Given the description of an element on the screen output the (x, y) to click on. 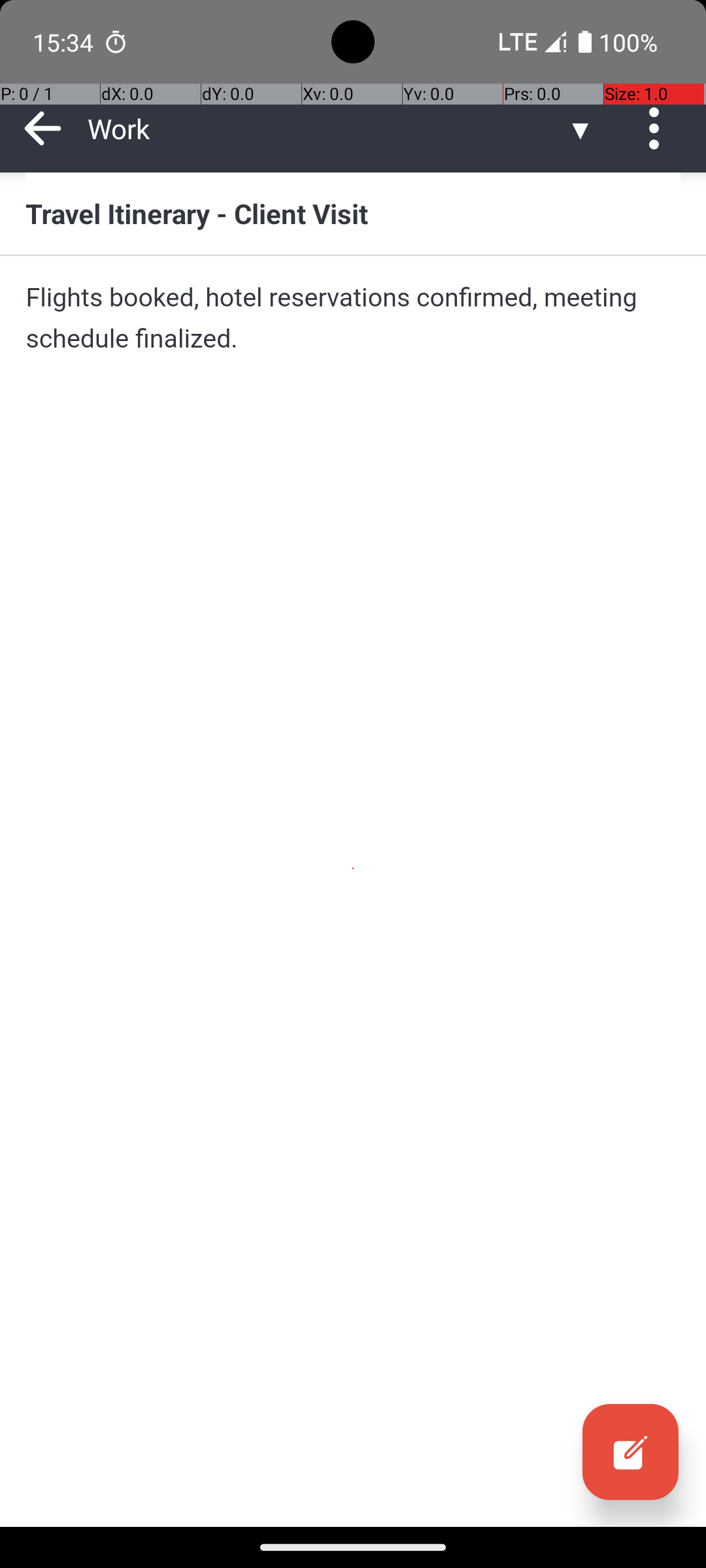
Travel Itinerary - Client Visit Element type: android.widget.EditText (352, 213)
Flights booked, hotel reservations confirmed, meeting schedule finalized. Element type: android.widget.TextView (352, 317)
